Given the description of an element on the screen output the (x, y) to click on. 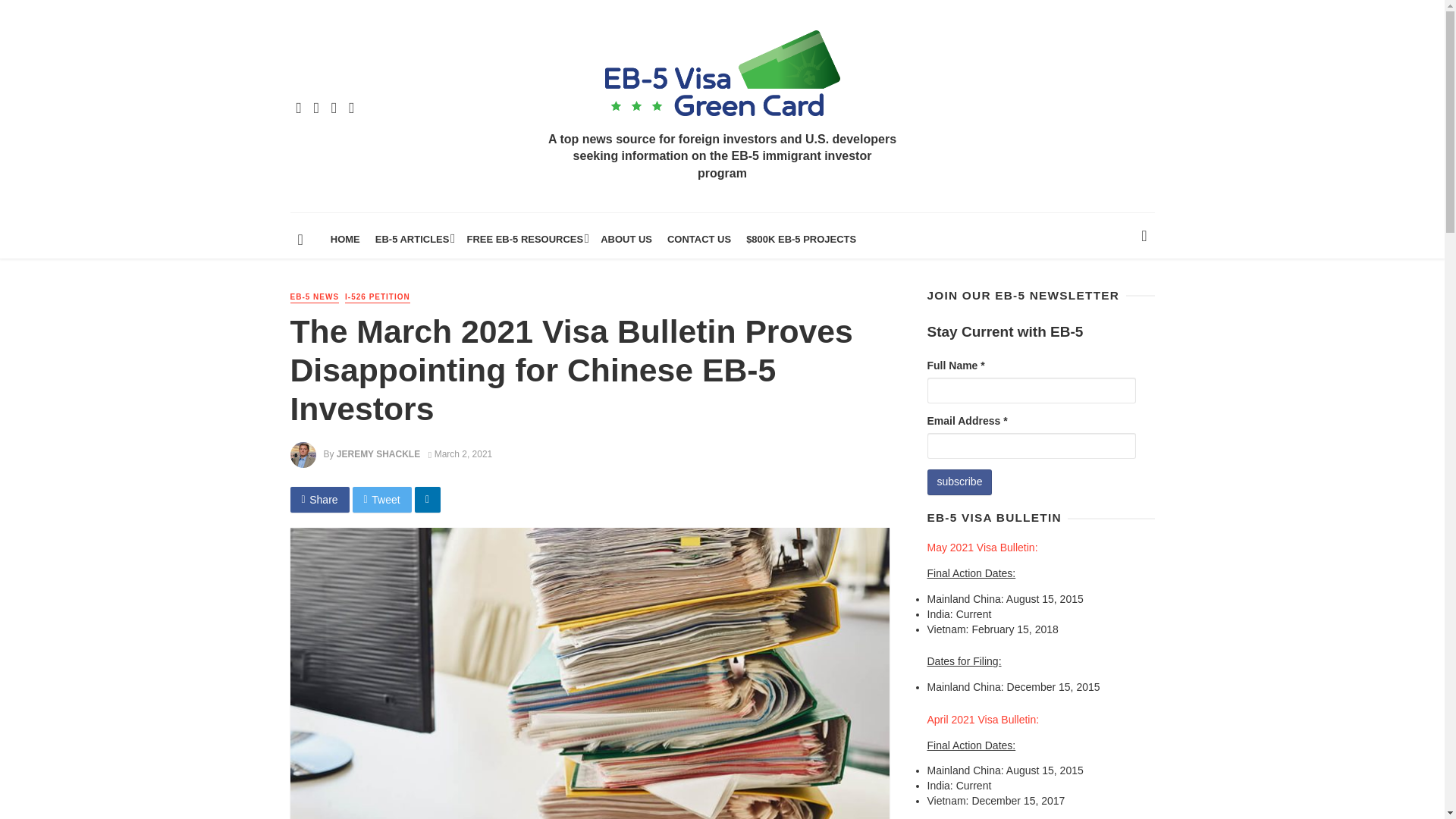
ABOUT US (625, 239)
subscribe (958, 482)
CONTACT US (698, 239)
Share on Facebook (319, 499)
Share on Linkedin (427, 499)
JEREMY SHACKLE (378, 453)
EB-5 NEWS (314, 297)
FREE EB-5 RESOURCES (525, 239)
Posts by JEREMY SHACKLE (378, 453)
I-526 PETITION (377, 297)
